Given the description of an element on the screen output the (x, y) to click on. 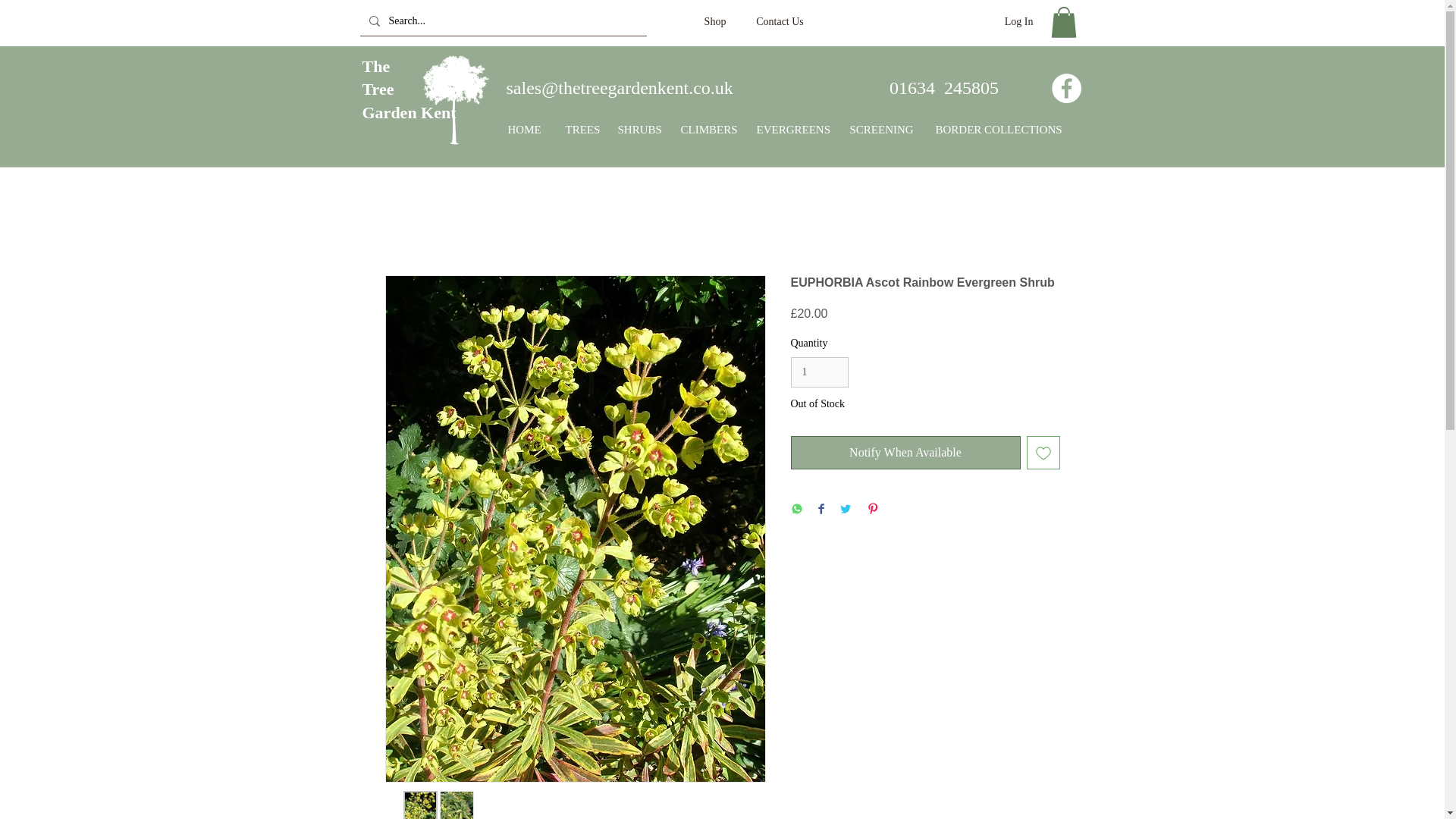
SHRUBS (638, 129)
SCREENING (881, 129)
1 (818, 372)
CLIMBERS (409, 89)
01634  245805 (706, 129)
Log In (943, 87)
Notify When Available (1018, 21)
HOME (905, 452)
EVERGREENS (524, 129)
Contact Us (791, 129)
Shop (780, 21)
TREES (714, 21)
BORDER COLLECTIONS (579, 129)
